Given the description of an element on the screen output the (x, y) to click on. 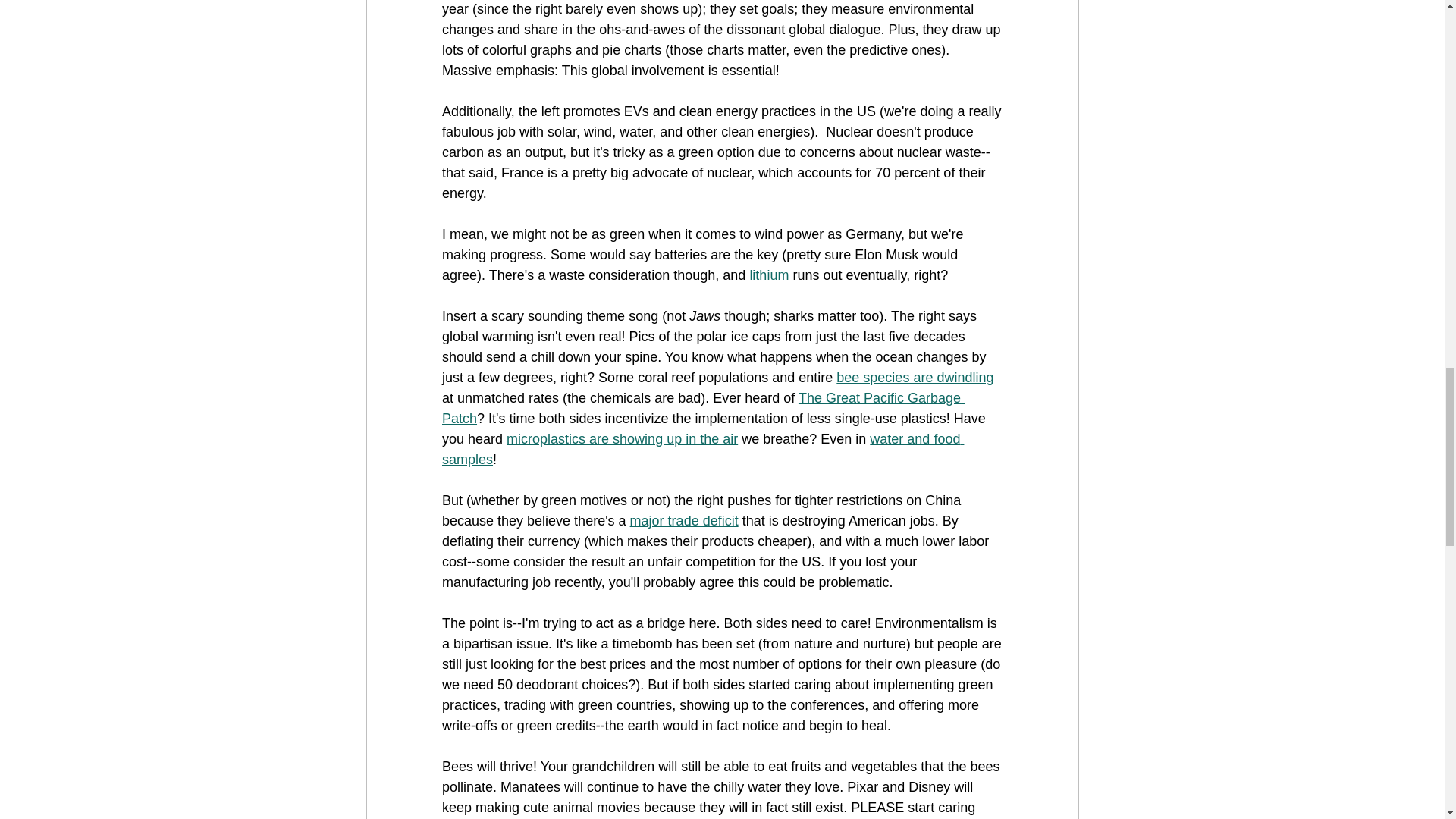
major trade deficit (683, 520)
bee species are dwindling (913, 377)
lithium (769, 274)
microplastics are showing up in the air (622, 438)
The Great Pacific Garbage Patch (702, 407)
water and food samples (701, 448)
